Given the description of an element on the screen output the (x, y) to click on. 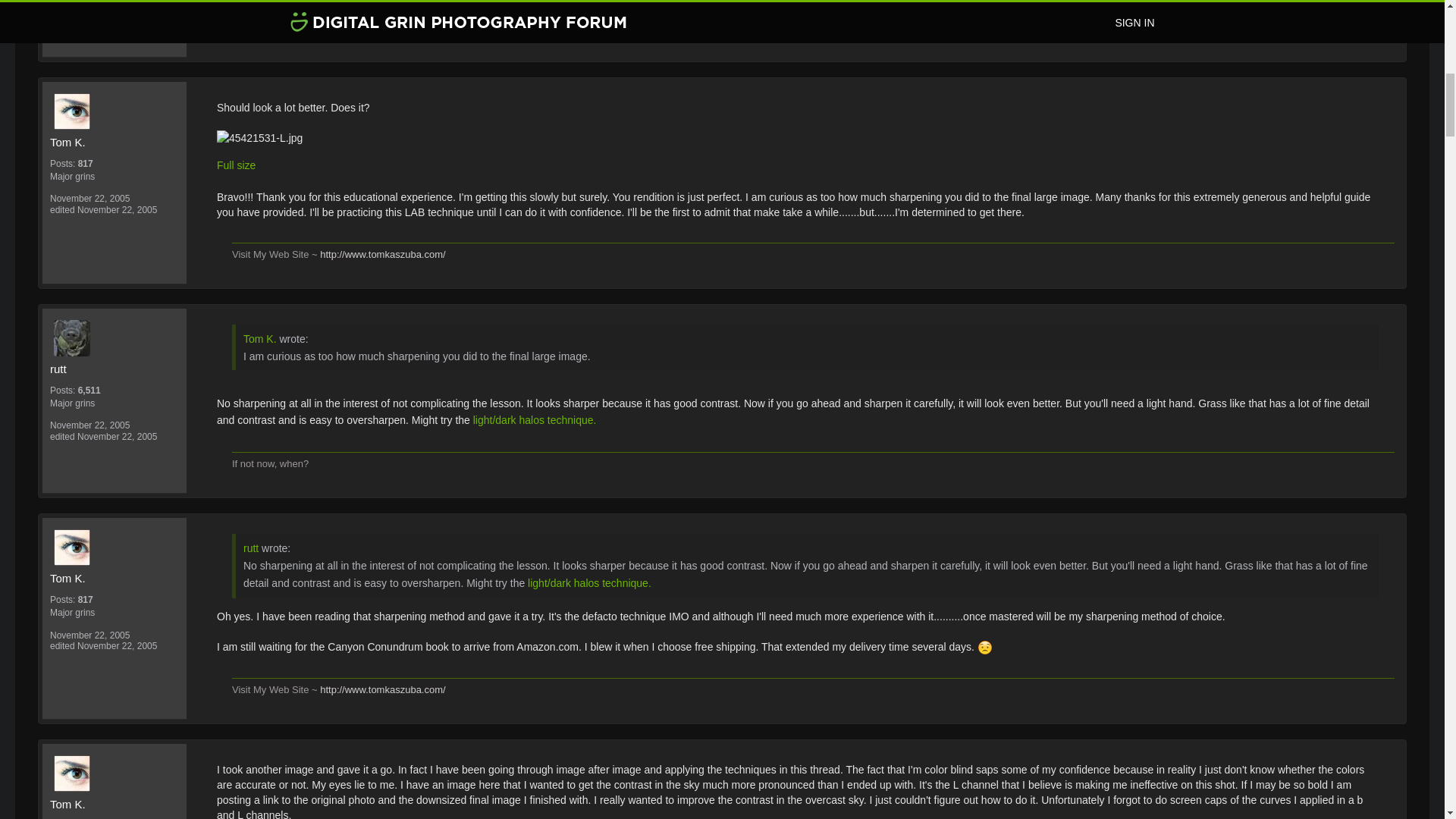
Technique Forum (344, 27)
www.pathfinder.smugmug.com (352, 5)
Major grins (114, 176)
Finishing School (440, 27)
Tom K. (118, 111)
